Given the description of an element on the screen output the (x, y) to click on. 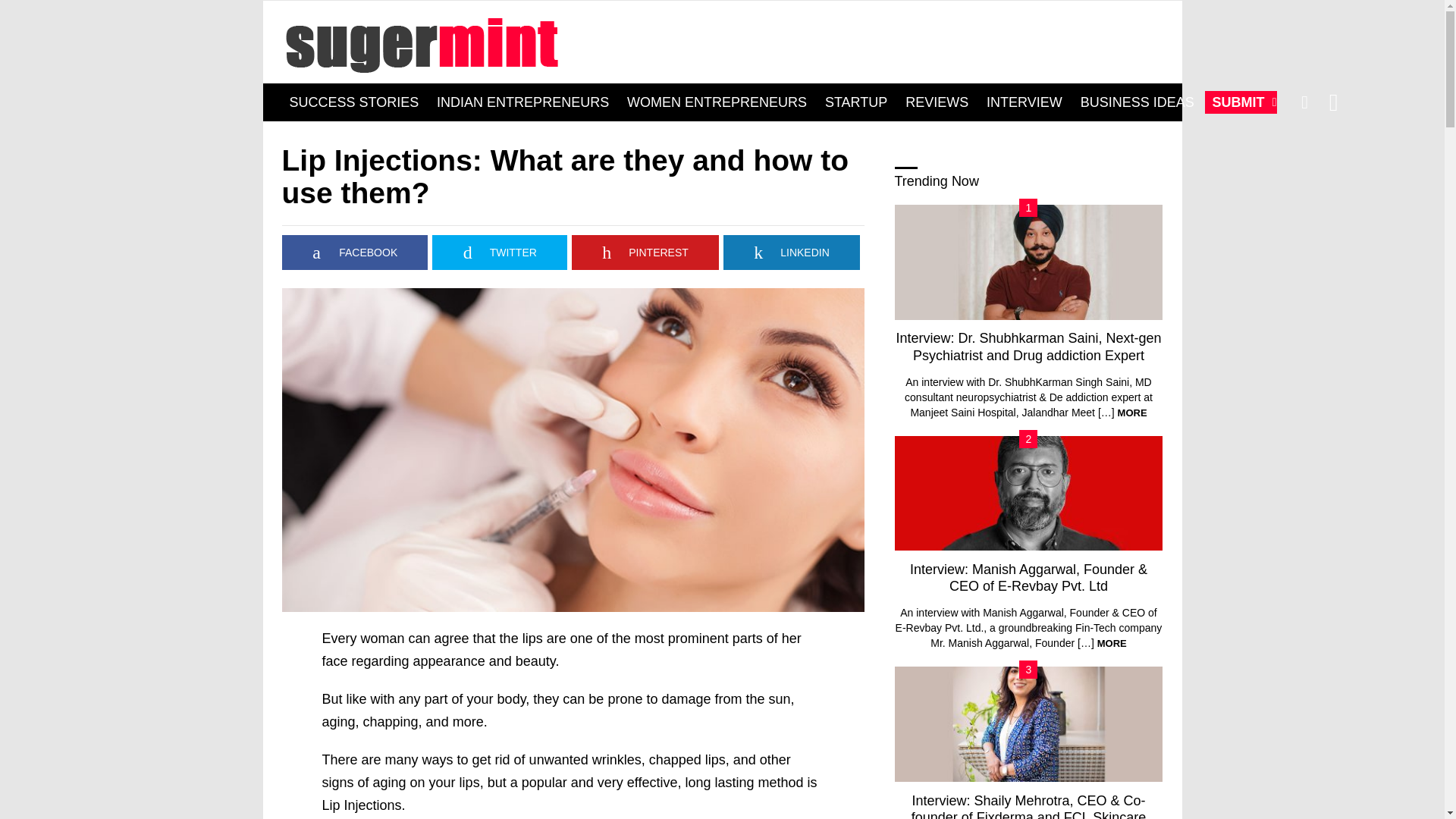
BUSINESS IDEAS (1137, 101)
SUCCESS STORIES (354, 101)
PINTEREST (645, 252)
TWITTER (499, 252)
STARTUP (855, 101)
FACEBOOK (355, 252)
INTERVIEW (1024, 101)
WOMEN ENTREPRENEURS (716, 101)
INDIAN ENTREPRENEURS (522, 101)
SUBMIT (1240, 101)
REVIEWS (936, 101)
LINKEDIN (791, 252)
